Given the description of an element on the screen output the (x, y) to click on. 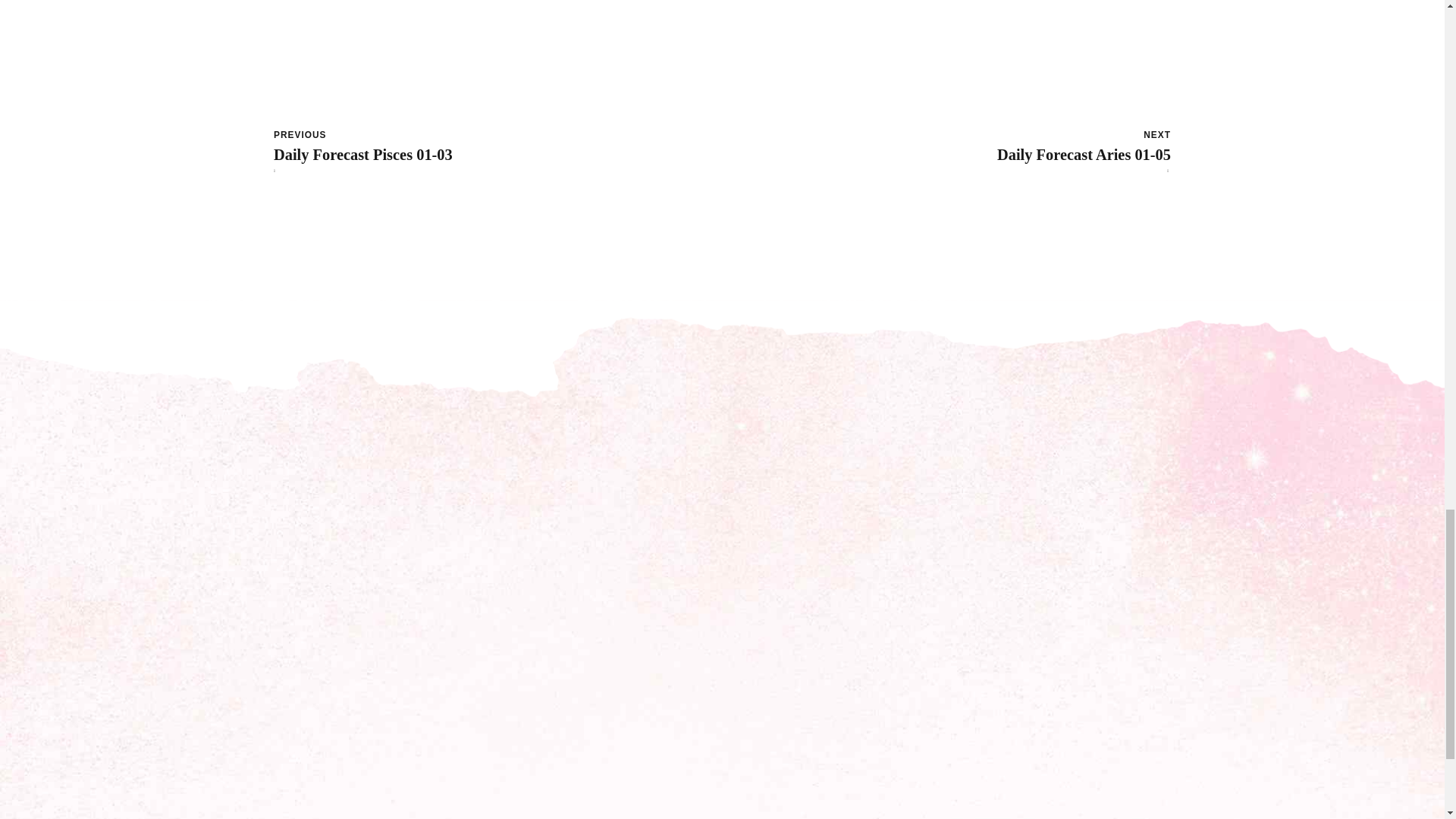
Submit (950, 726)
